Given the description of an element on the screen output the (x, y) to click on. 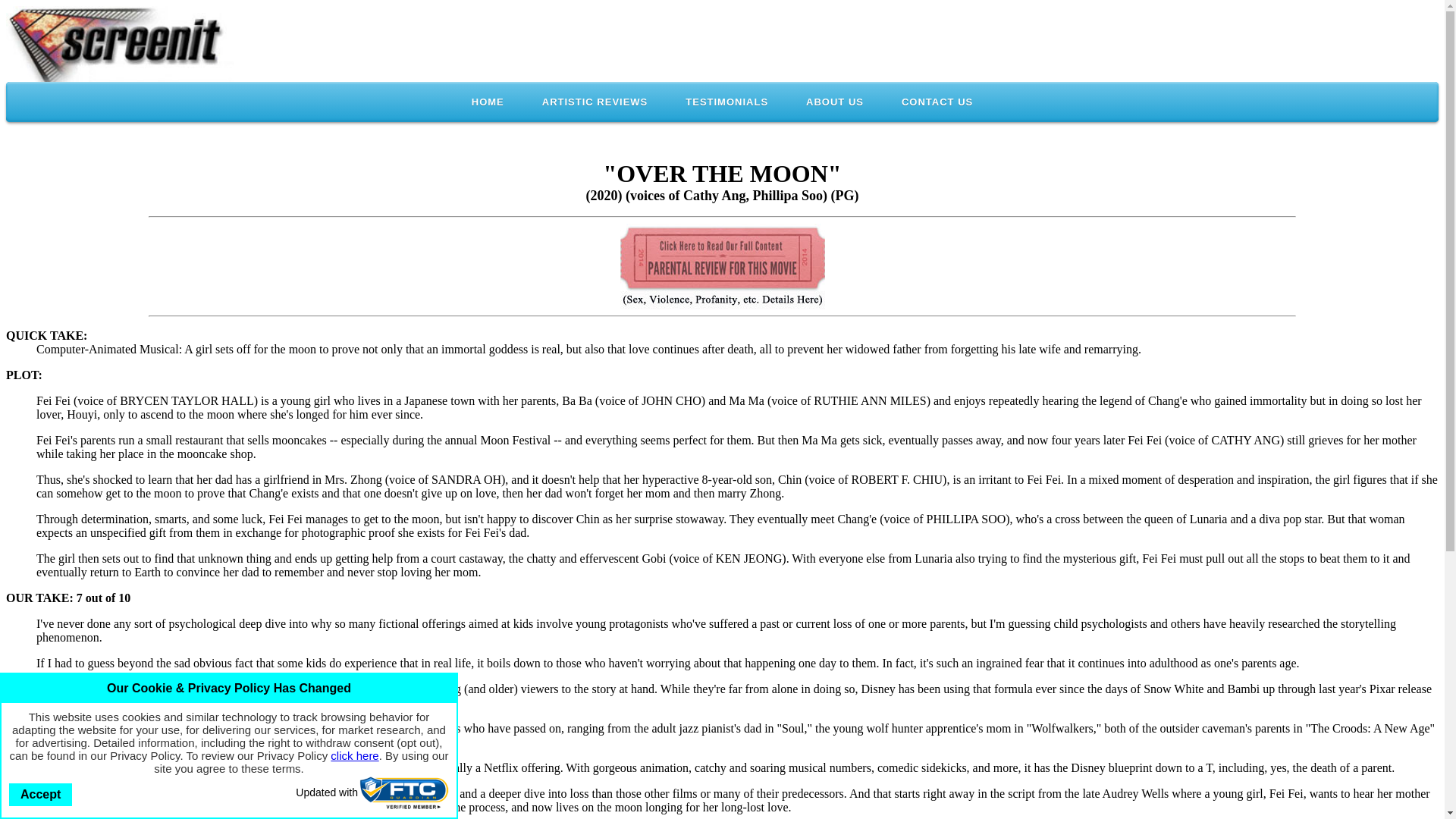
TESTIMONIALS (726, 101)
HOME (487, 101)
ARTISTIC REVIEWS (594, 101)
click here (354, 755)
Accept (39, 793)
ABOUT US (834, 101)
CONTACT US (936, 101)
